Given the description of an element on the screen output the (x, y) to click on. 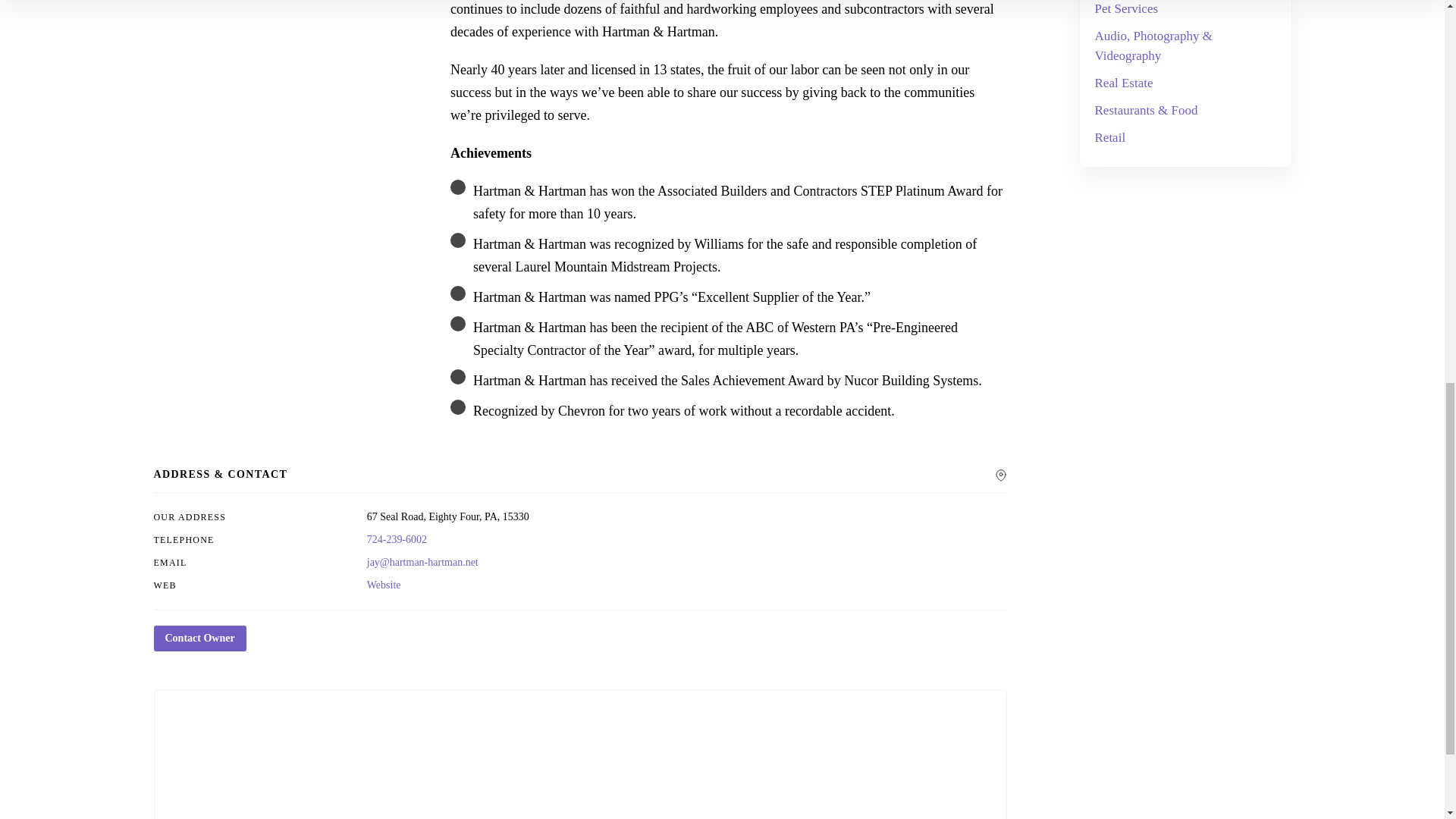
724-239-6002 (396, 539)
Website (383, 584)
Contact Owner (199, 638)
